Given the description of an element on the screen output the (x, y) to click on. 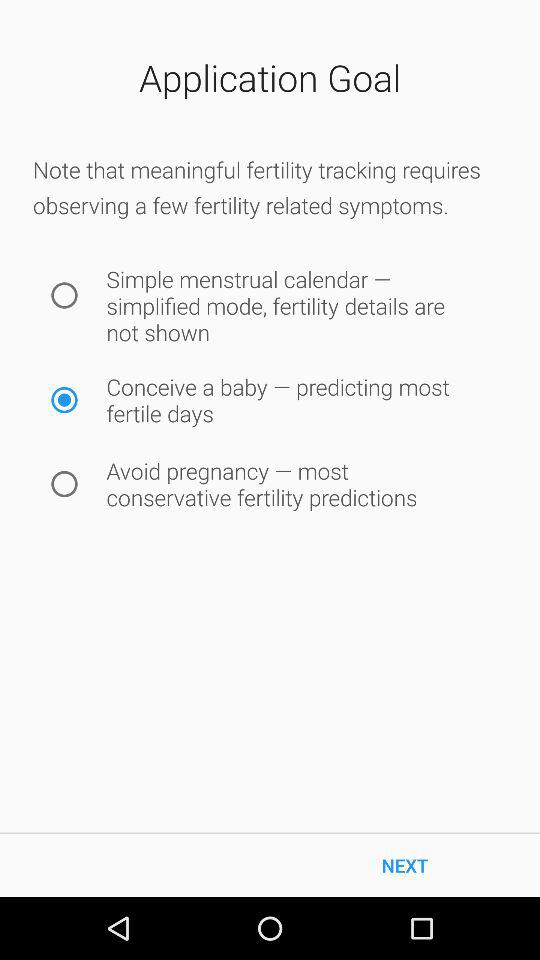
tap the item at the bottom right corner (405, 864)
